Given the description of an element on the screen output the (x, y) to click on. 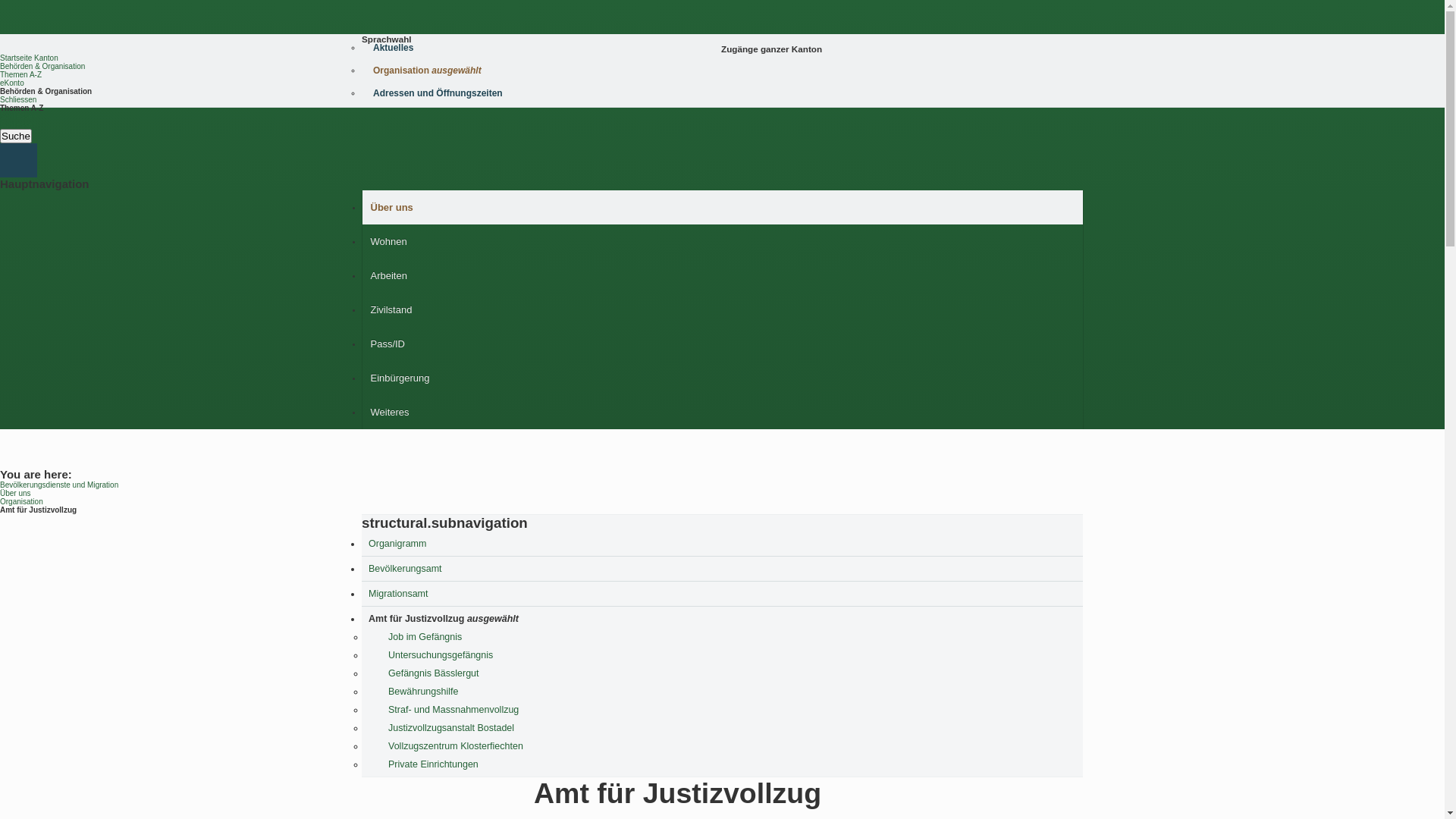
Wohnen Element type: text (722, 241)
Migrationsamt Element type: text (721, 593)
Weiteres Element type: text (722, 412)
Justizvollzugsanstalt Bostadel Element type: text (731, 727)
Organisation Element type: text (21, 501)
Aktuelles Element type: text (720, 47)
Private Einrichtungen Element type: text (731, 764)
Startseite Kanton Element type: text (29, 57)
logo.title Element type: hover (360, 56)
Organigramm Element type: text (721, 543)
Pass/ID Element type: text (722, 343)
Vollzugszentrum Klosterfiechten Element type: text (731, 746)
Zivilstand Element type: text (722, 309)
Themen A-Z Element type: text (20, 74)
Schliessen Element type: text (18, 116)
Schliessen Element type: text (18, 99)
Suche Element type: text (15, 135)
Straf- und Massnahmenvollzug Element type: text (731, 709)
Schliessen Element type: text (18, 124)
eKonto Element type: text (12, 82)
Arbeiten Element type: text (722, 275)
